Given the description of an element on the screen output the (x, y) to click on. 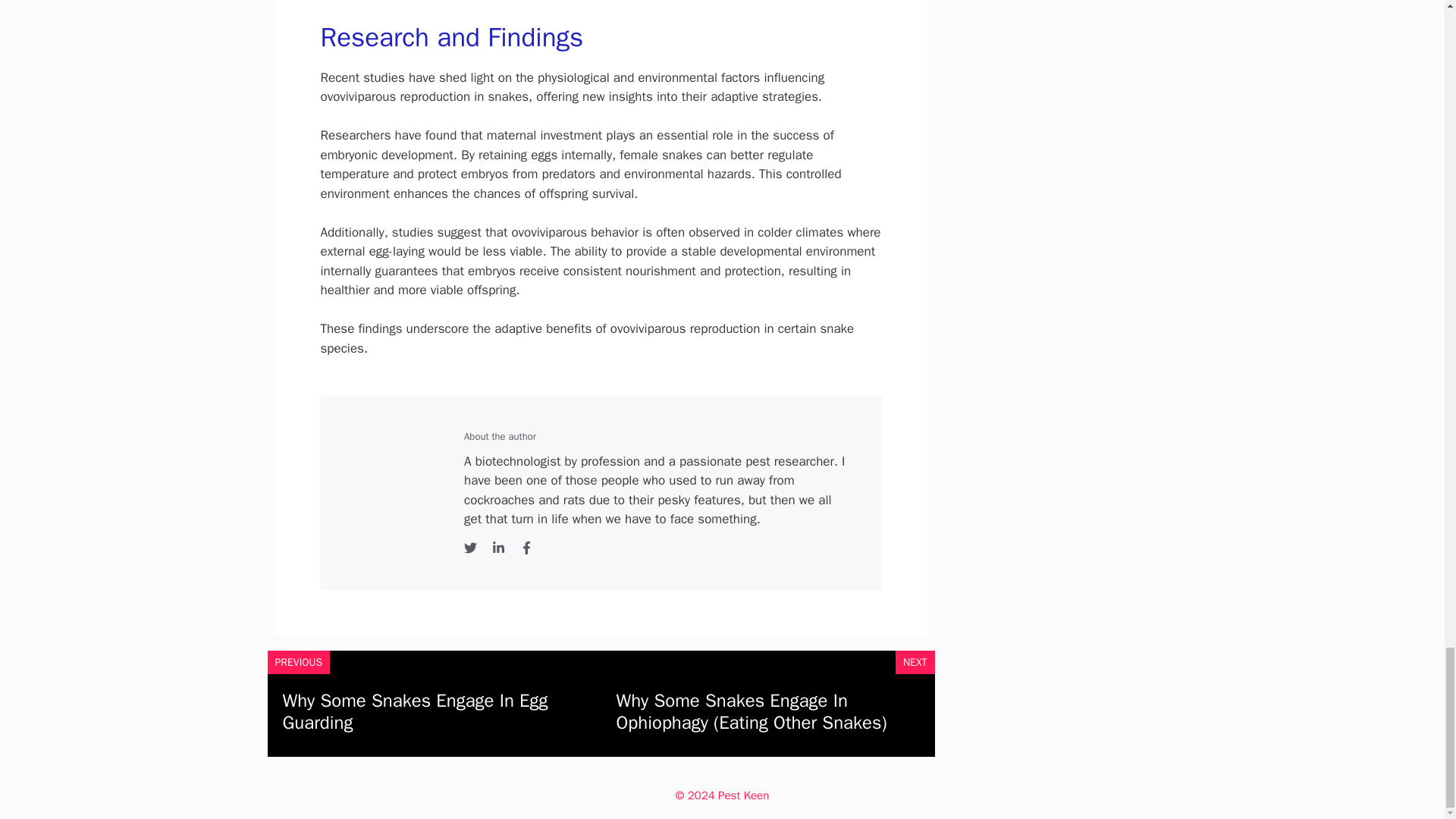
Why Some Snakes Engage In Egg Guarding (414, 711)
